Given the description of an element on the screen output the (x, y) to click on. 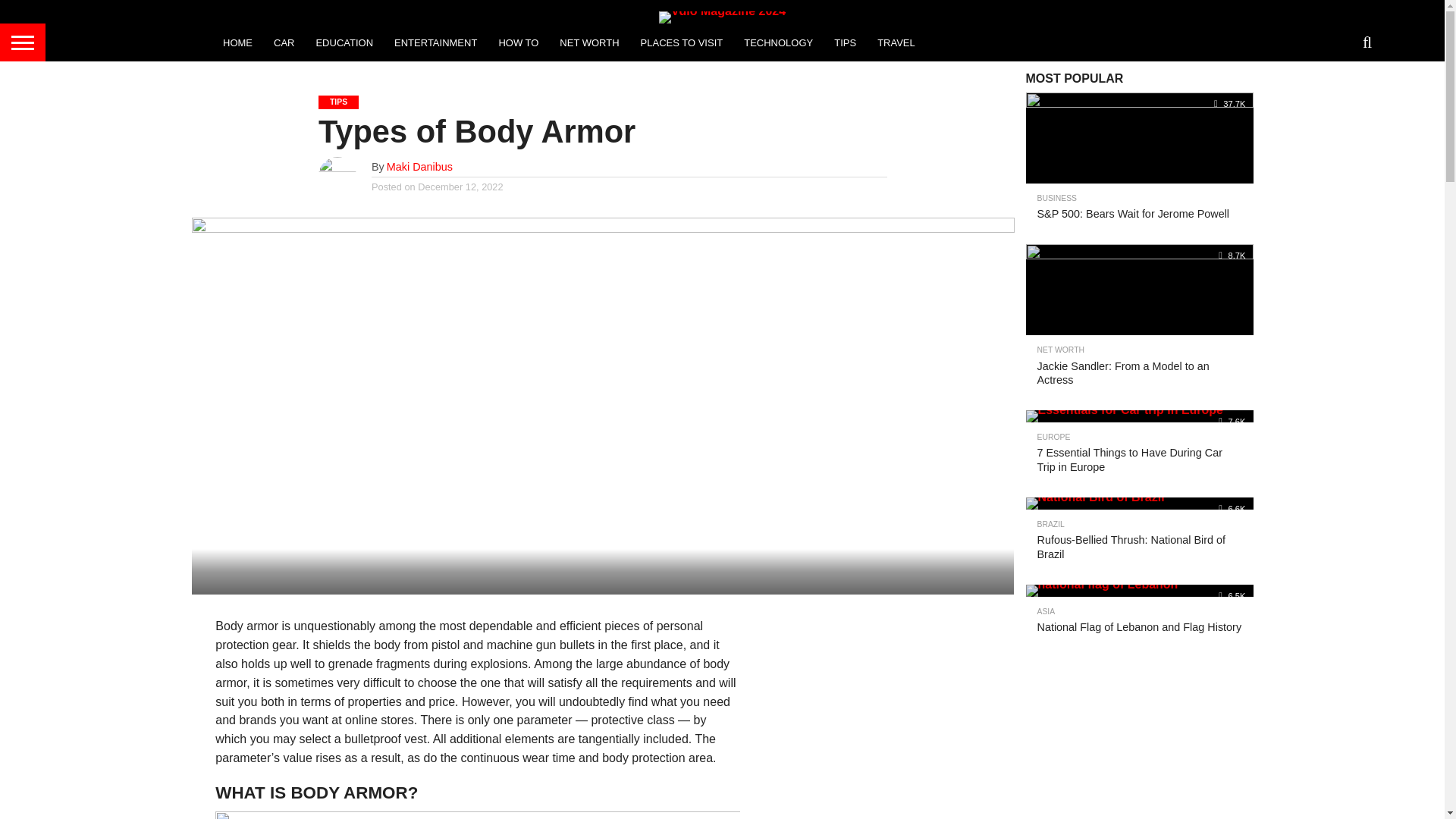
Posts by Maki Danibus (419, 166)
Maki Danibus (419, 166)
TRAVEL (896, 42)
EDUCATION (344, 42)
NET WORTH (588, 42)
PLACES TO VISIT (681, 42)
TECHNOLOGY (778, 42)
HOW TO (517, 42)
HOME (237, 42)
CAR (283, 42)
